Given the description of an element on the screen output the (x, y) to click on. 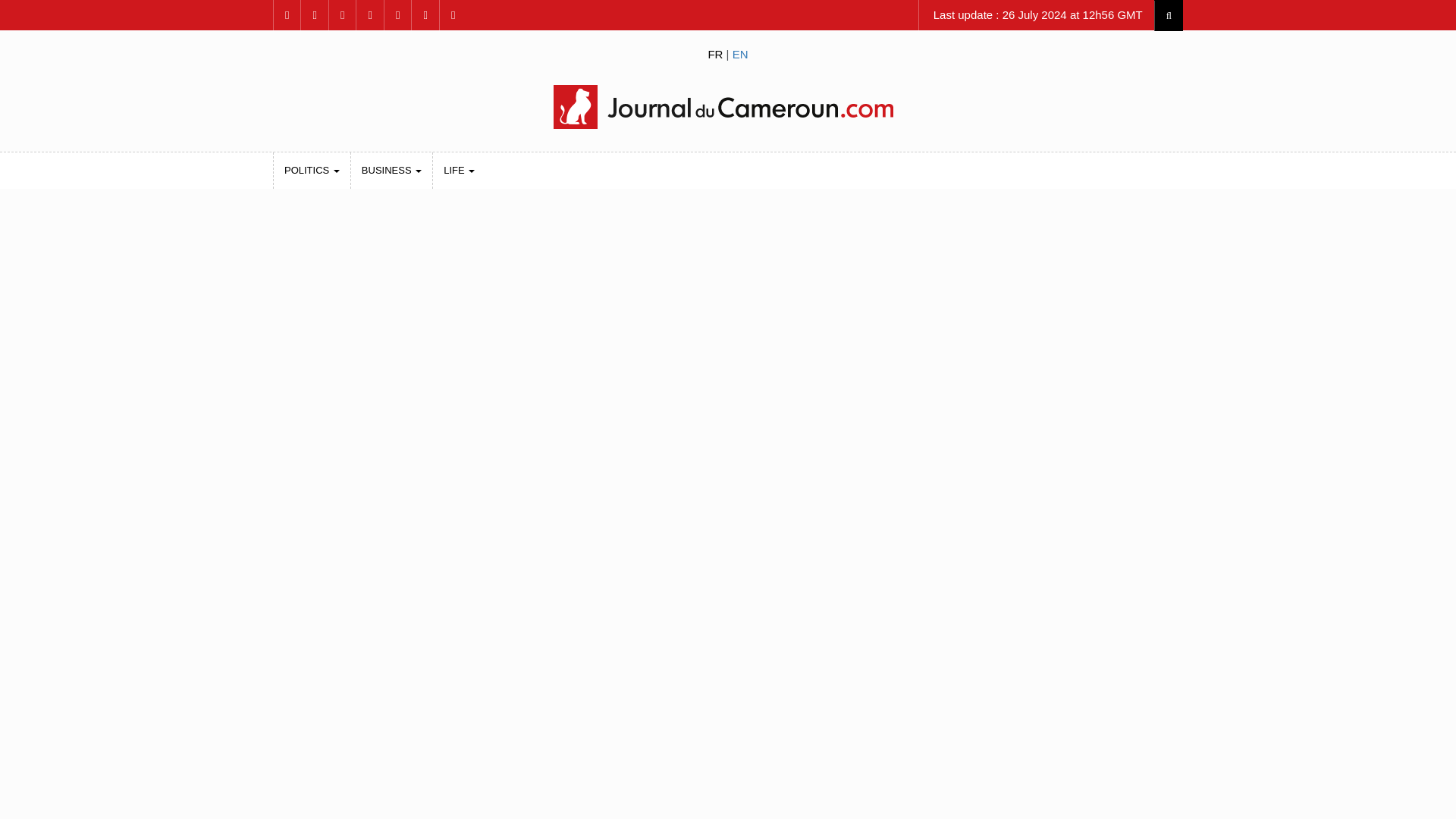
EN (740, 53)
Last update : 26 July 2024 at 12h56 GMT (1036, 15)
JDC (727, 106)
FR (714, 53)
